Given the description of an element on the screen output the (x, y) to click on. 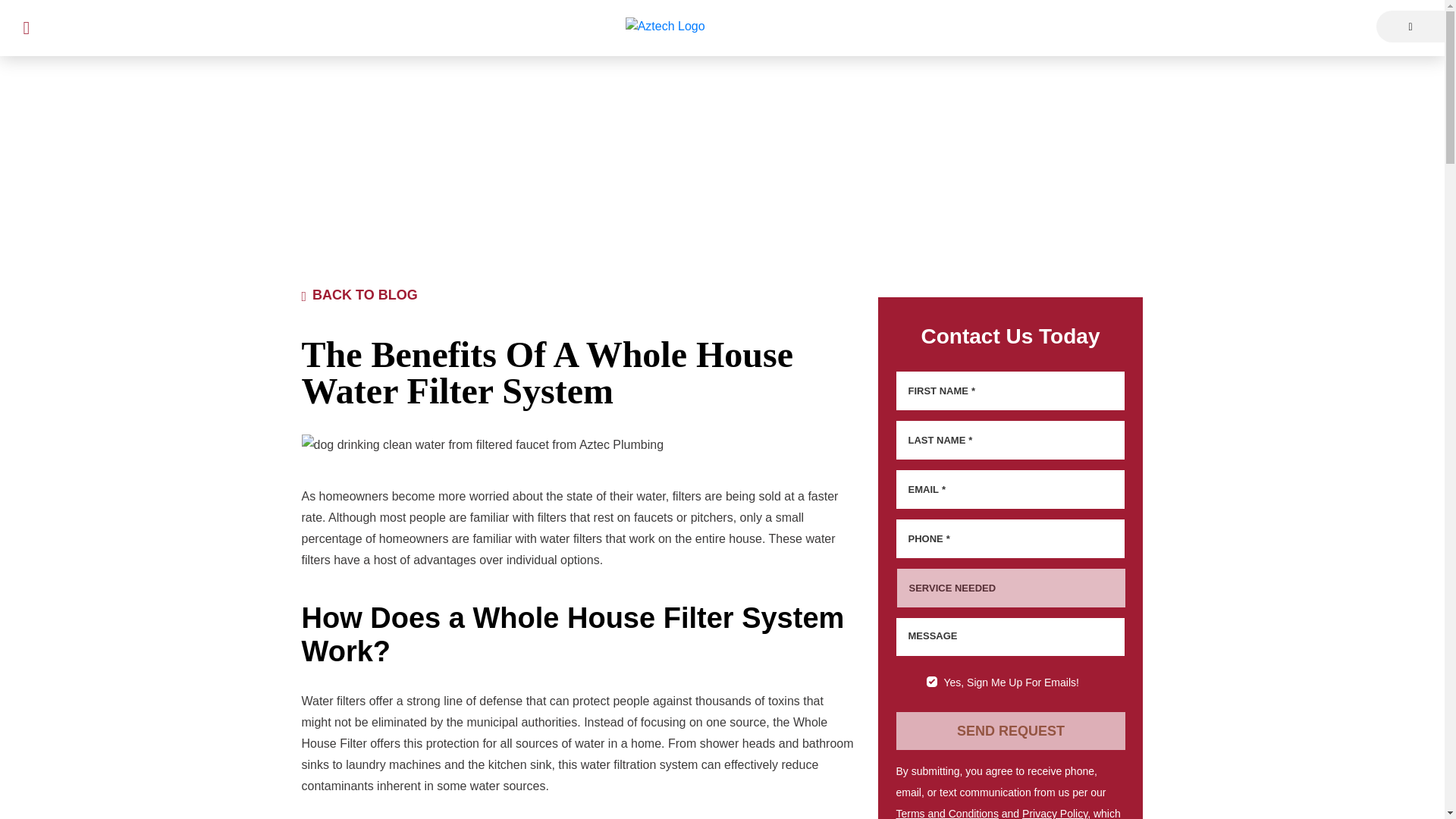
Yes, Sign Me Up For Emails! (931, 681)
